Given the description of an element on the screen output the (x, y) to click on. 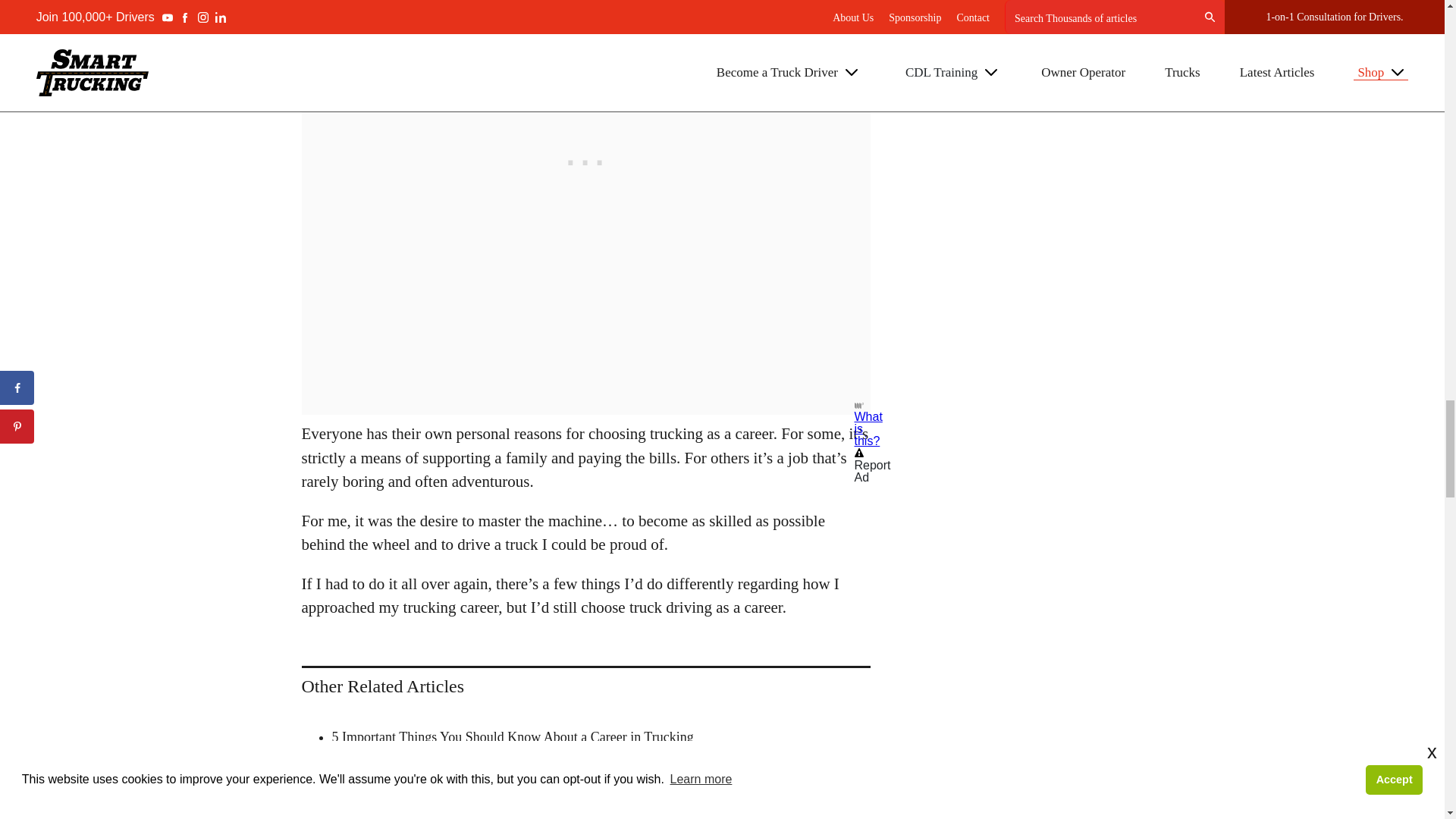
3rd party ad content (585, 99)
